Given the description of an element on the screen output the (x, y) to click on. 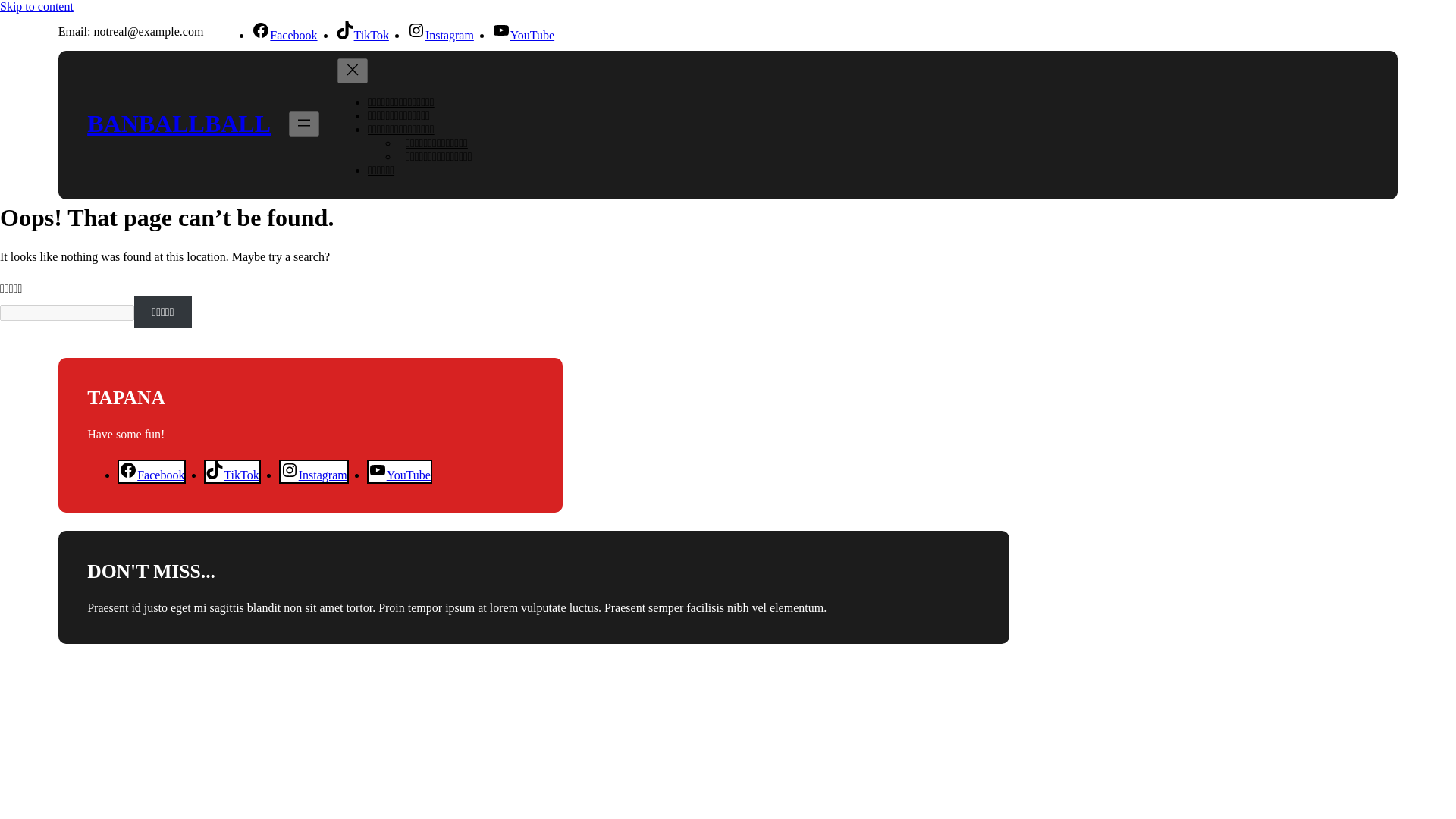
Facebook (284, 34)
TikTok (232, 474)
Skip to content (37, 6)
Instagram (314, 474)
Instagram (440, 34)
YouTube (399, 474)
YouTube (523, 34)
TikTok (362, 34)
Facebook (151, 474)
BANBALLBALL (178, 123)
